Given the description of an element on the screen output the (x, y) to click on. 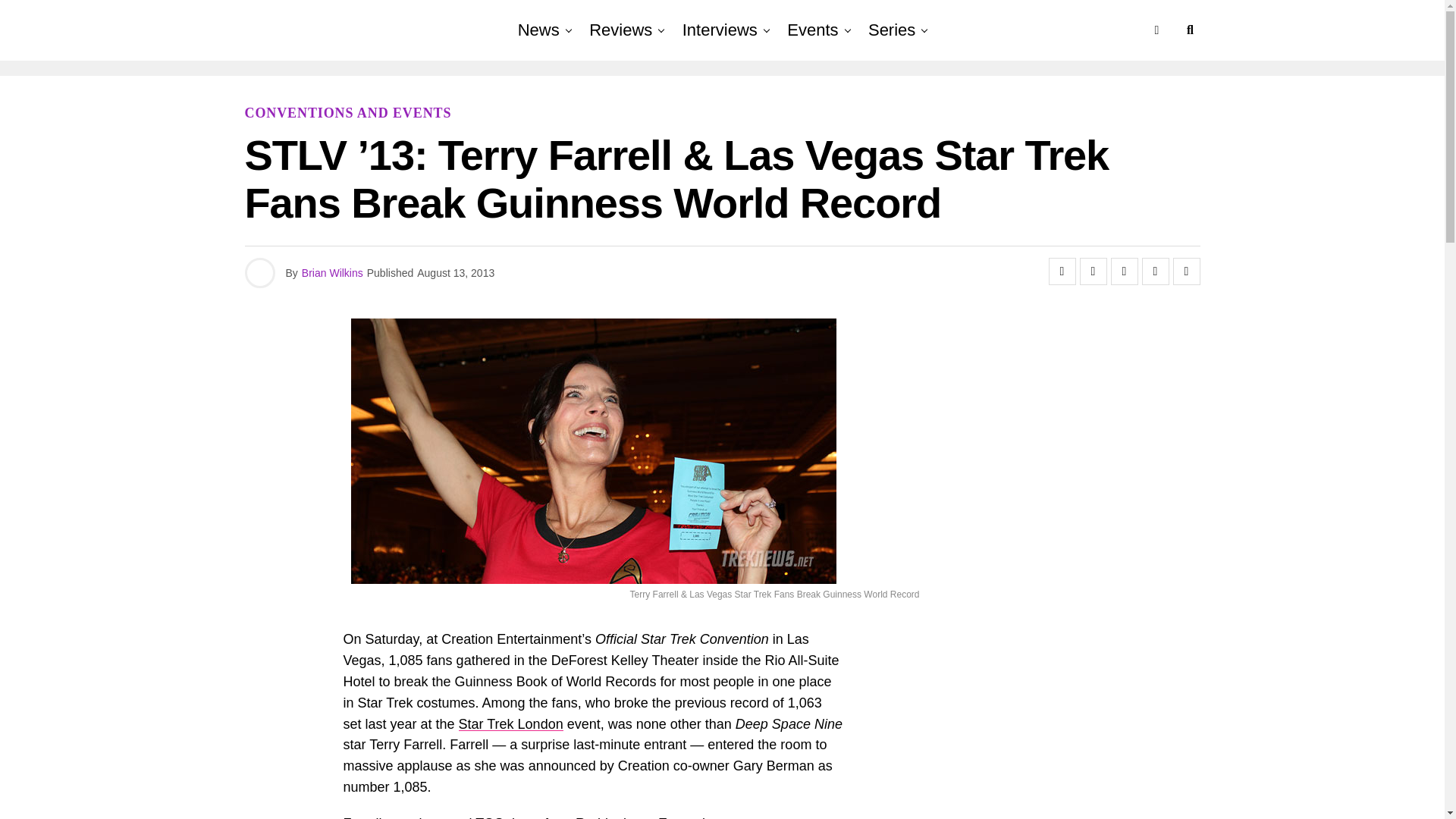
Interviews (720, 30)
Events (811, 30)
News (539, 30)
Share on Facebook (1061, 271)
Reviews (619, 30)
Posts by Brian Wilkins (331, 272)
Share on Flipboard (1123, 271)
Tweet This Post (1093, 271)
Reviews (619, 30)
